Given the description of an element on the screen output the (x, y) to click on. 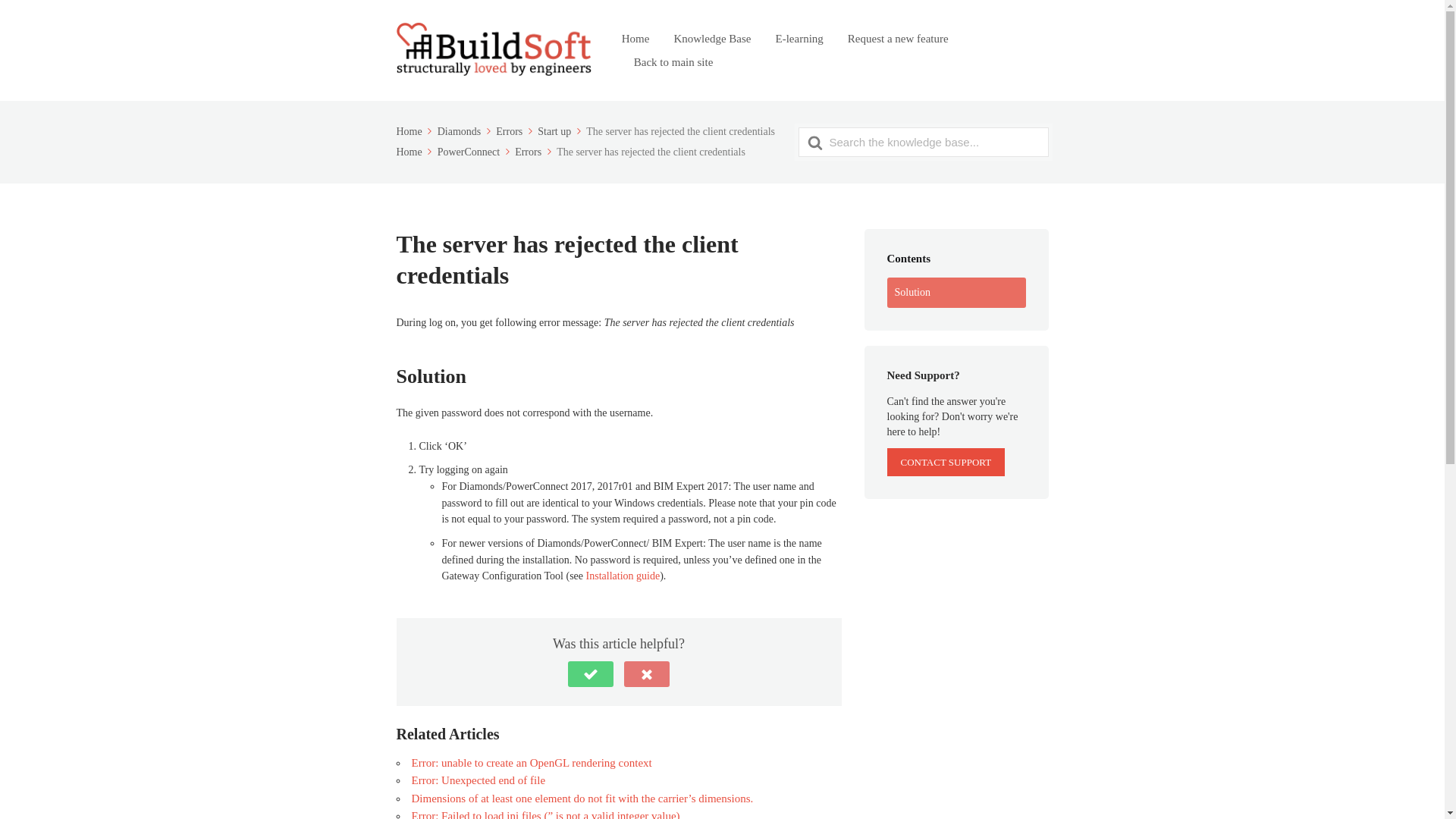
Errors (515, 131)
Request a new feature (898, 38)
Installation guide (623, 575)
PowerConnect (475, 152)
Error: unable to create an OpenGL rendering context (530, 762)
Error: Unexpected end of file (477, 779)
Home (414, 131)
Back to main site (673, 62)
E-learning (798, 38)
Errors (534, 152)
Home (414, 152)
Knowledge Base (711, 38)
Diamonds (465, 131)
CONTACT SUPPORT (946, 461)
Start up (560, 131)
